Given the description of an element on the screen output the (x, y) to click on. 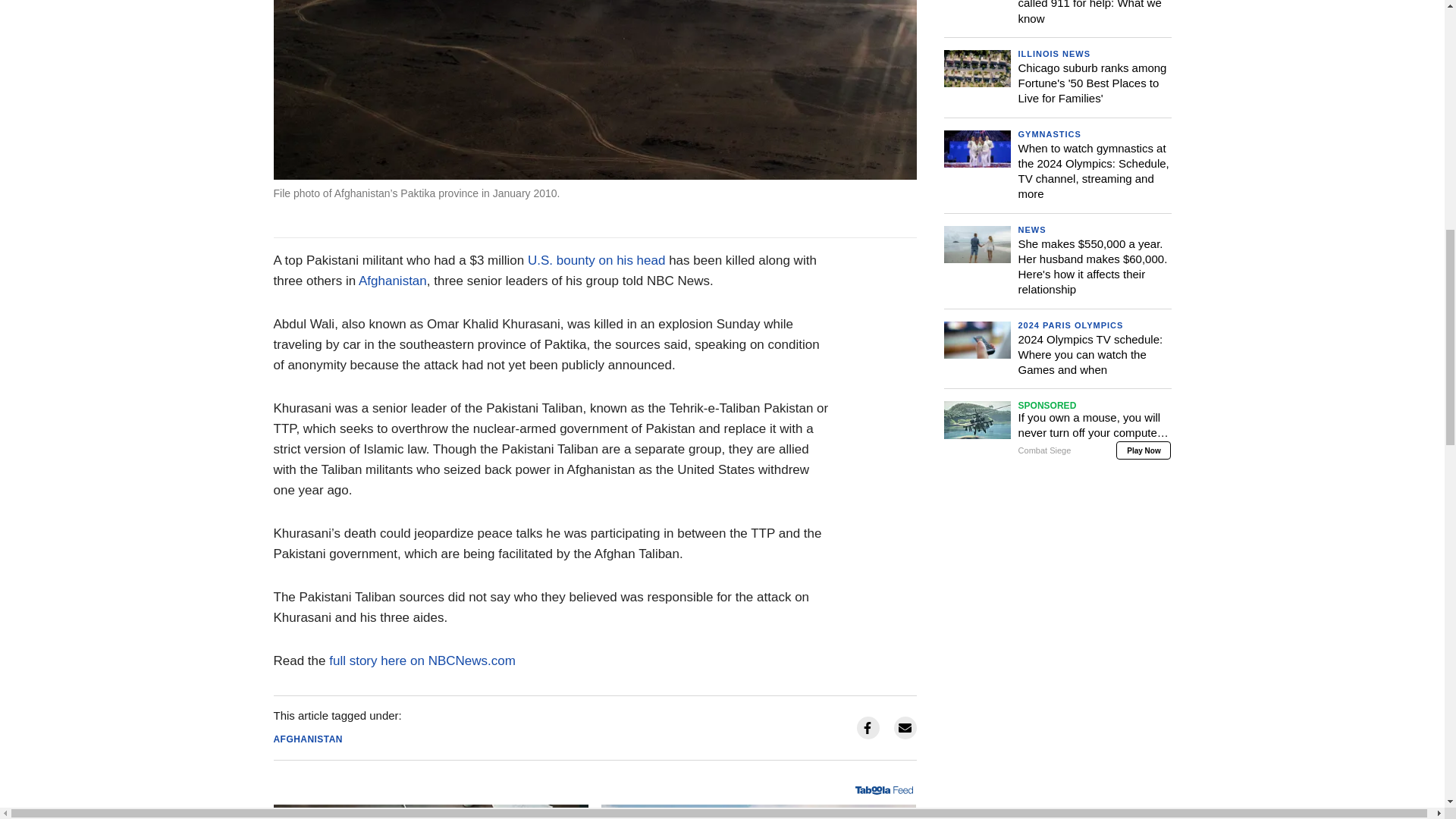
Afghanistan (392, 280)
U.S. bounty on his head (596, 260)
AFGHANISTAN (307, 738)
full story here on NBCNews.com (422, 660)
